Given the description of an element on the screen output the (x, y) to click on. 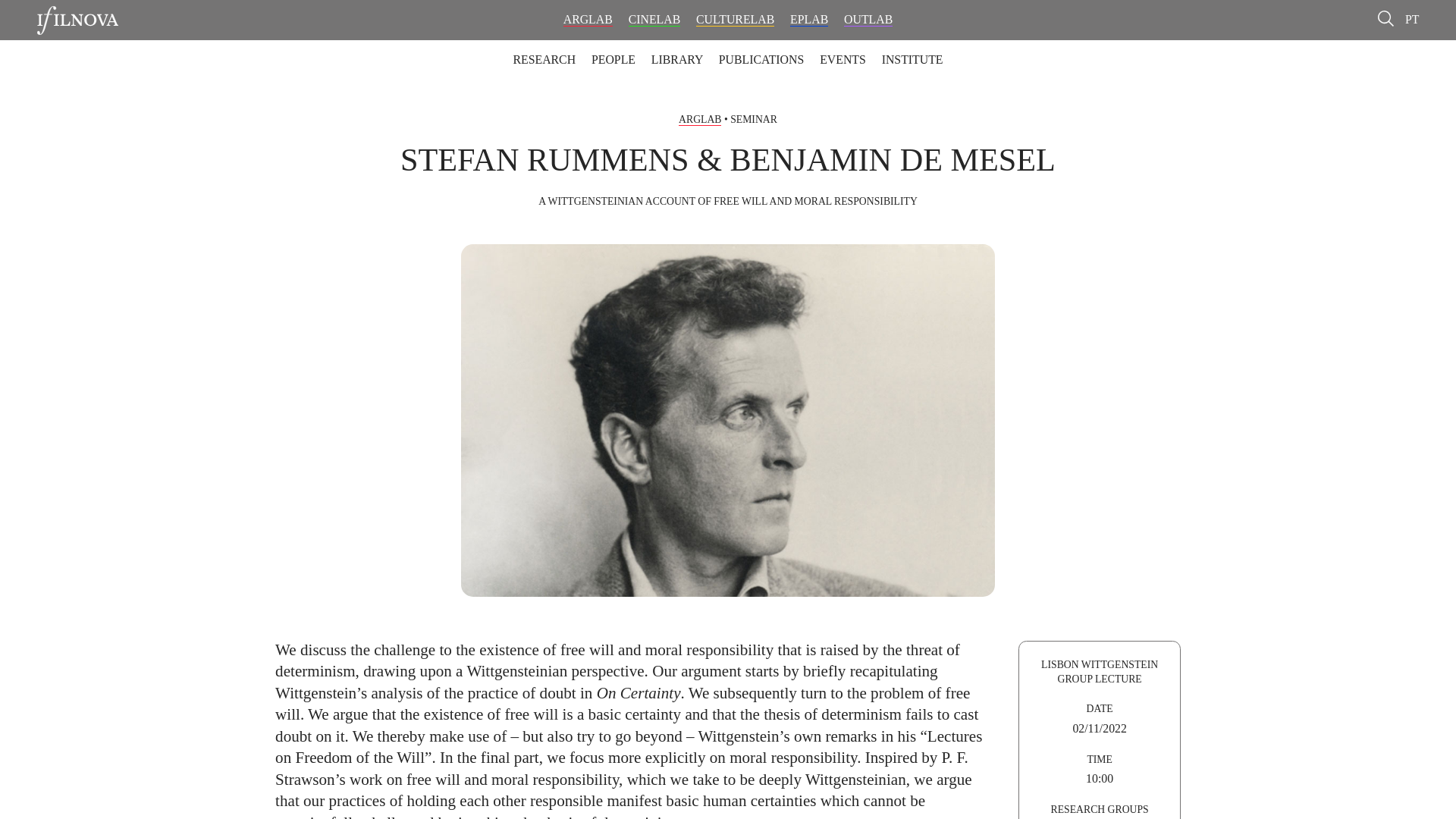
CULTURELAB (734, 19)
PT (1411, 19)
PEOPLE (612, 59)
COLLABORATORS (684, 48)
INTEGRATED MEMBERS (552, 48)
EVENTS (842, 59)
DIGITAL LIBRARY (770, 48)
RESEARCH (543, 59)
ARGLAB (587, 19)
LABORATORIES (502, 48)
